Given the description of an element on the screen output the (x, y) to click on. 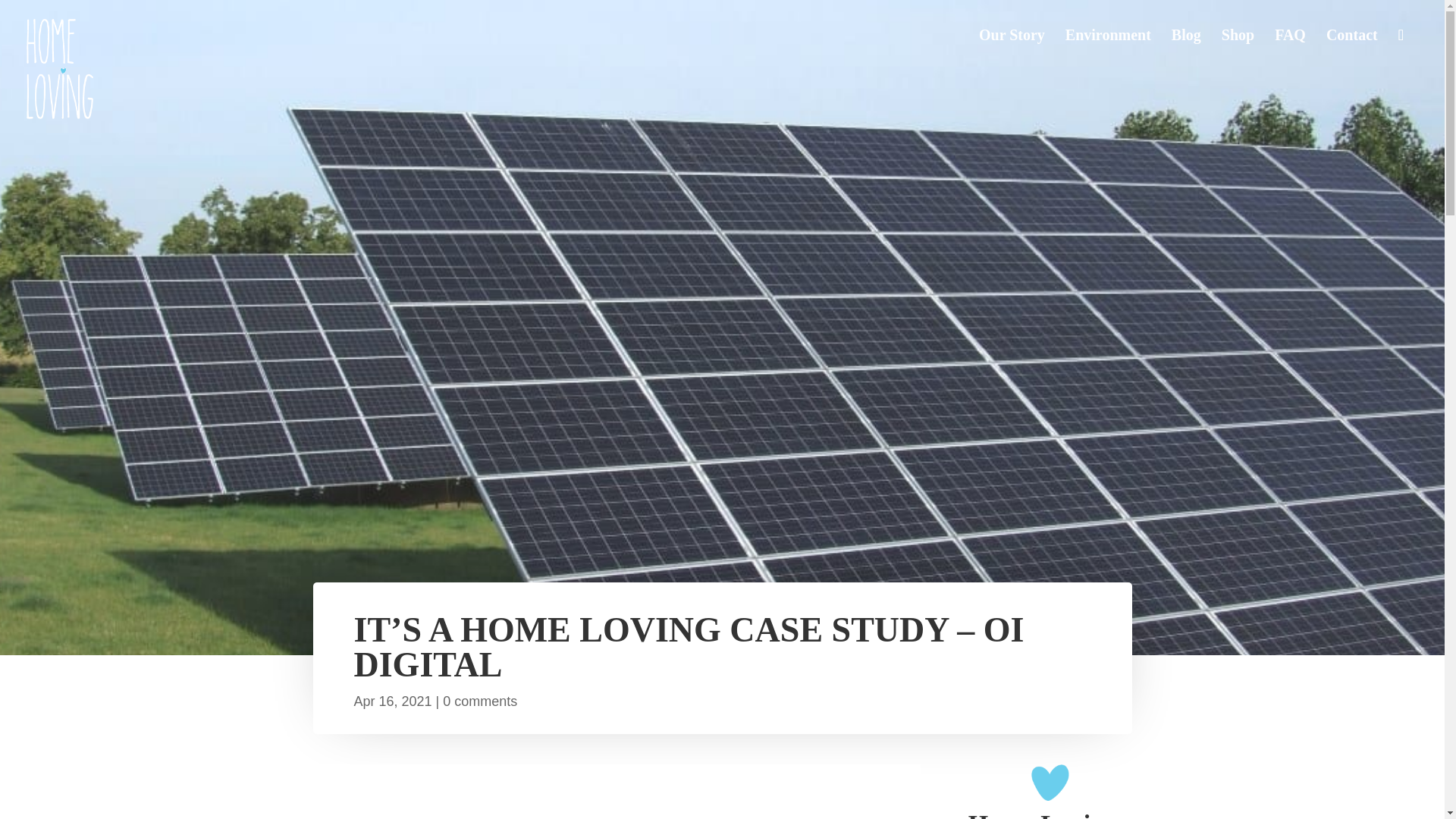
FAQ (1290, 55)
Shop (1237, 55)
Contact (1351, 55)
Our Story (1011, 55)
Environment (1108, 55)
Love Heart HL Blue (1049, 782)
0 comments (479, 701)
Blog (1186, 55)
